Given the description of an element on the screen output the (x, y) to click on. 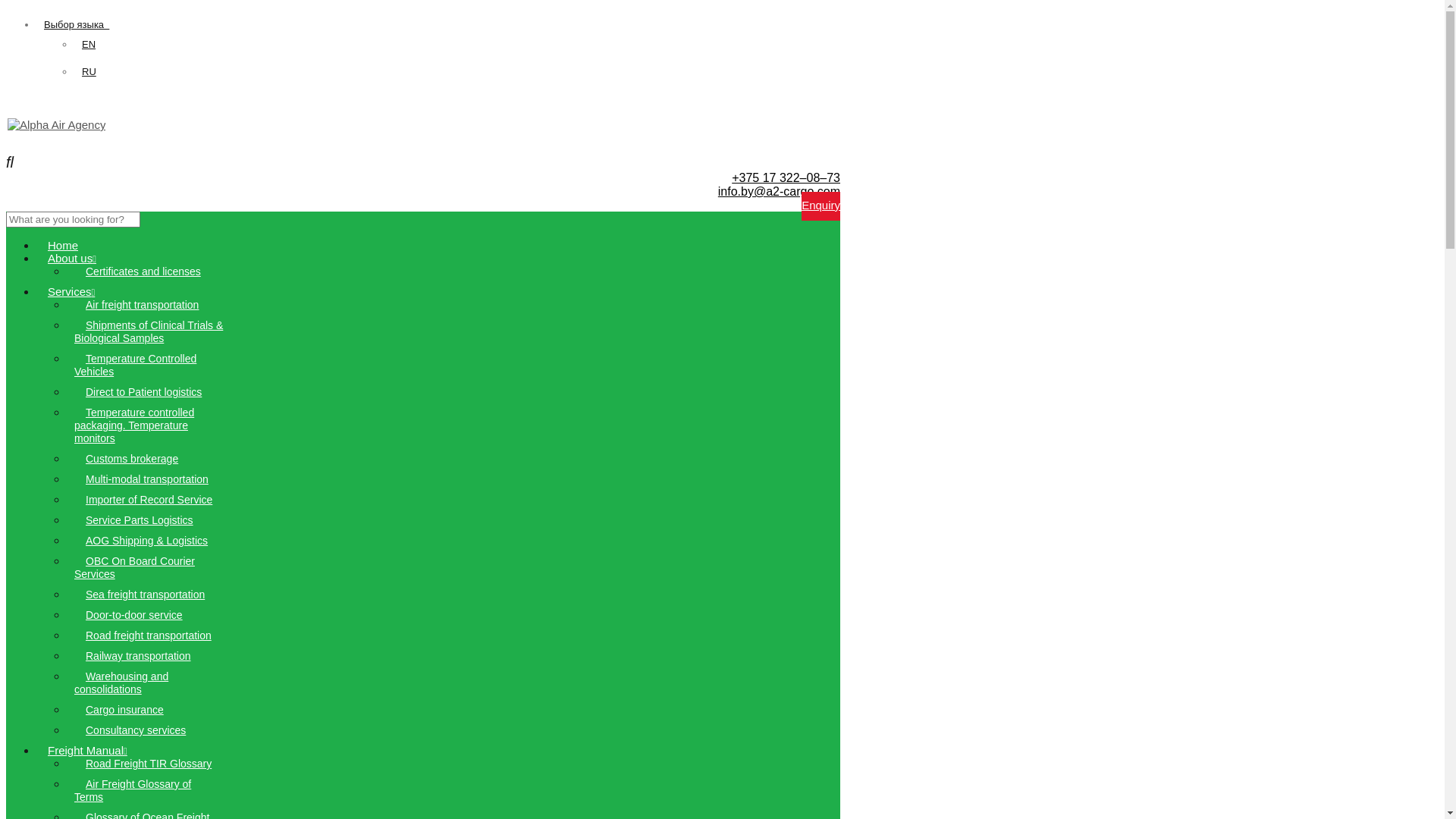
Service Parts Logistics Element type: text (139, 520)
Cargo insurance Element type: text (124, 709)
Certificates and licenses Element type: text (143, 271)
Road Freight TIR Glossary Element type: text (148, 763)
Warehousing and consolidations Element type: text (121, 682)
EN Element type: text (88, 44)
Home Element type: text (62, 244)
Air Freight Glossary of Terms Element type: text (132, 790)
info.by@a2-cargo.com Element type: text (779, 191)
RU Element type: text (88, 71)
Multi-modal transportation Element type: text (146, 479)
Road freight transportation Element type: text (148, 635)
Consultancy services Element type: text (135, 730)
Importer of Record Service Element type: text (148, 499)
Sea freight transportation Element type: text (145, 594)
Shipments of Clinical Trials & Biological Samples Element type: text (148, 331)
Direct to Patient logistics Element type: text (143, 391)
About us Element type: text (71, 257)
Temperature controlled packaging. Temperature monitors Element type: text (134, 425)
Railway transportation Element type: text (138, 655)
Door-to-door service Element type: text (134, 614)
Temperature Controlled Vehicles Element type: text (135, 364)
Customs brokerage Element type: text (131, 458)
Freight Manual Element type: text (87, 749)
Services Element type: text (71, 291)
OBC On Board Courier Services Element type: text (134, 567)
Enquiry Element type: text (820, 205)
Air freight transportation Element type: text (142, 304)
AOG Shipping & Logistics Element type: text (146, 540)
